Given the description of an element on the screen output the (x, y) to click on. 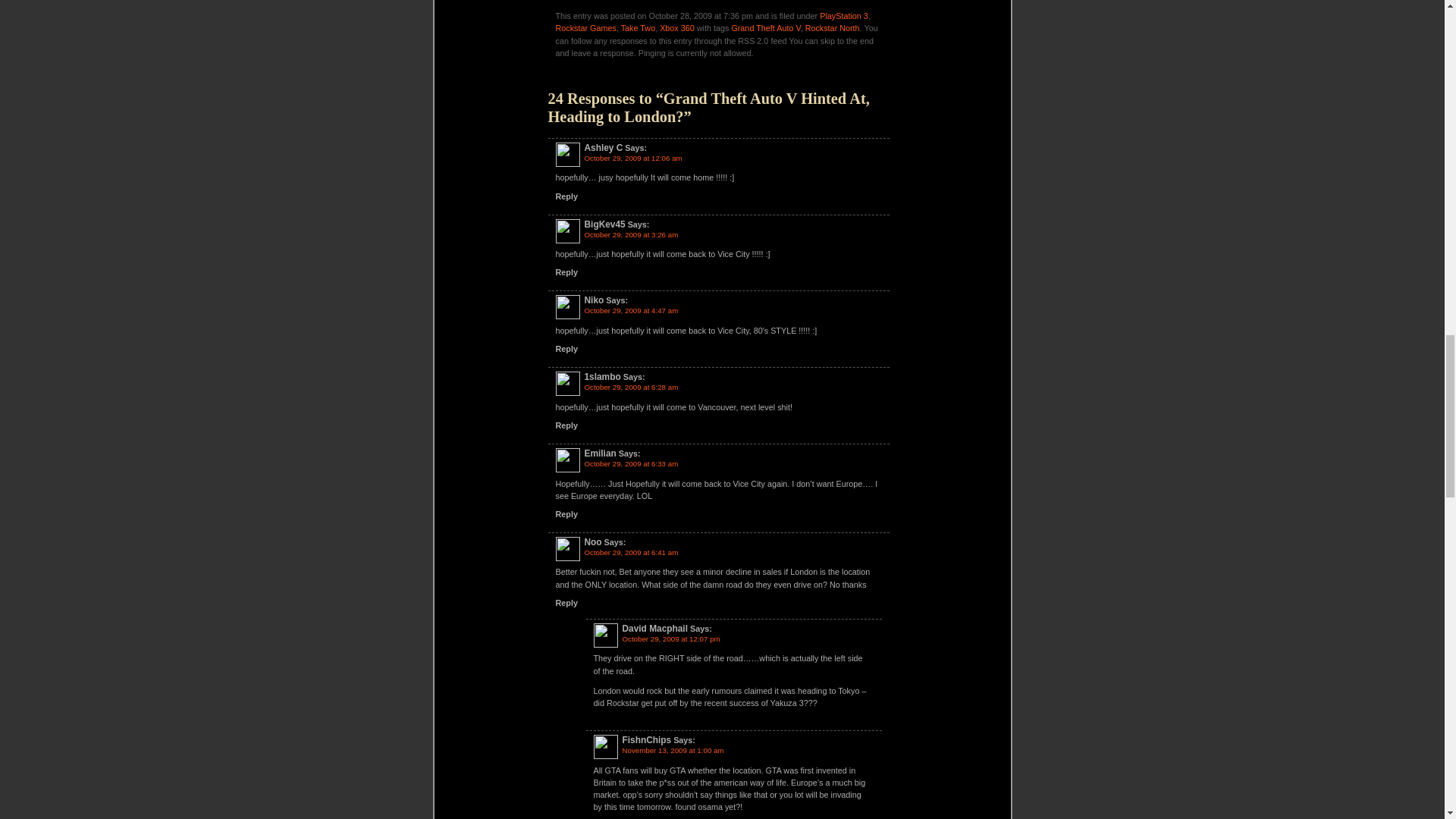
Grand Theft Auto V (764, 27)
October 29, 2009 at 3:26 am (630, 234)
October 29, 2009 at 6:41 am (630, 551)
October 29, 2009 at 12:06 am (632, 157)
October 29, 2009 at 6:28 am (630, 387)
October 29, 2009 at 4:47 am (630, 310)
View all posts in PlayStation 3 (843, 15)
October 29, 2009 at 6:33 am (630, 463)
Rockstar North (832, 27)
Take Two (638, 27)
October 29, 2009 at 12:07 pm (670, 638)
Rockstar Games (584, 27)
Xbox 360 (676, 27)
PlayStation 3 (843, 15)
View all posts in Rockstar Games (584, 27)
